Given the description of an element on the screen output the (x, y) to click on. 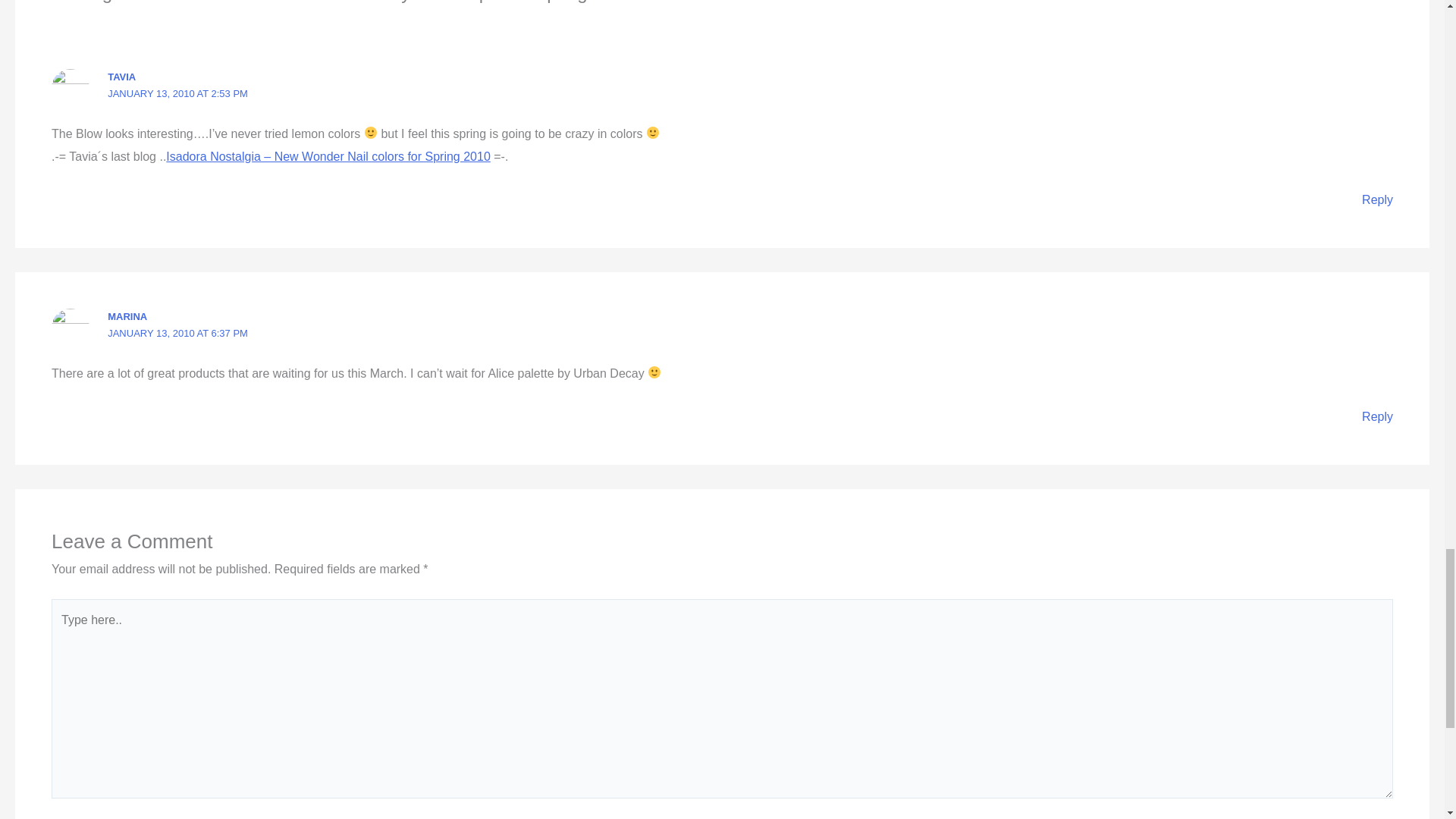
JANUARY 13, 2010 AT 2:53 PM (177, 93)
TAVIA (121, 76)
JANUARY 13, 2010 AT 6:37 PM (177, 333)
Reply (1377, 416)
Reply (1377, 199)
MARINA (127, 316)
